Given the description of an element on the screen output the (x, y) to click on. 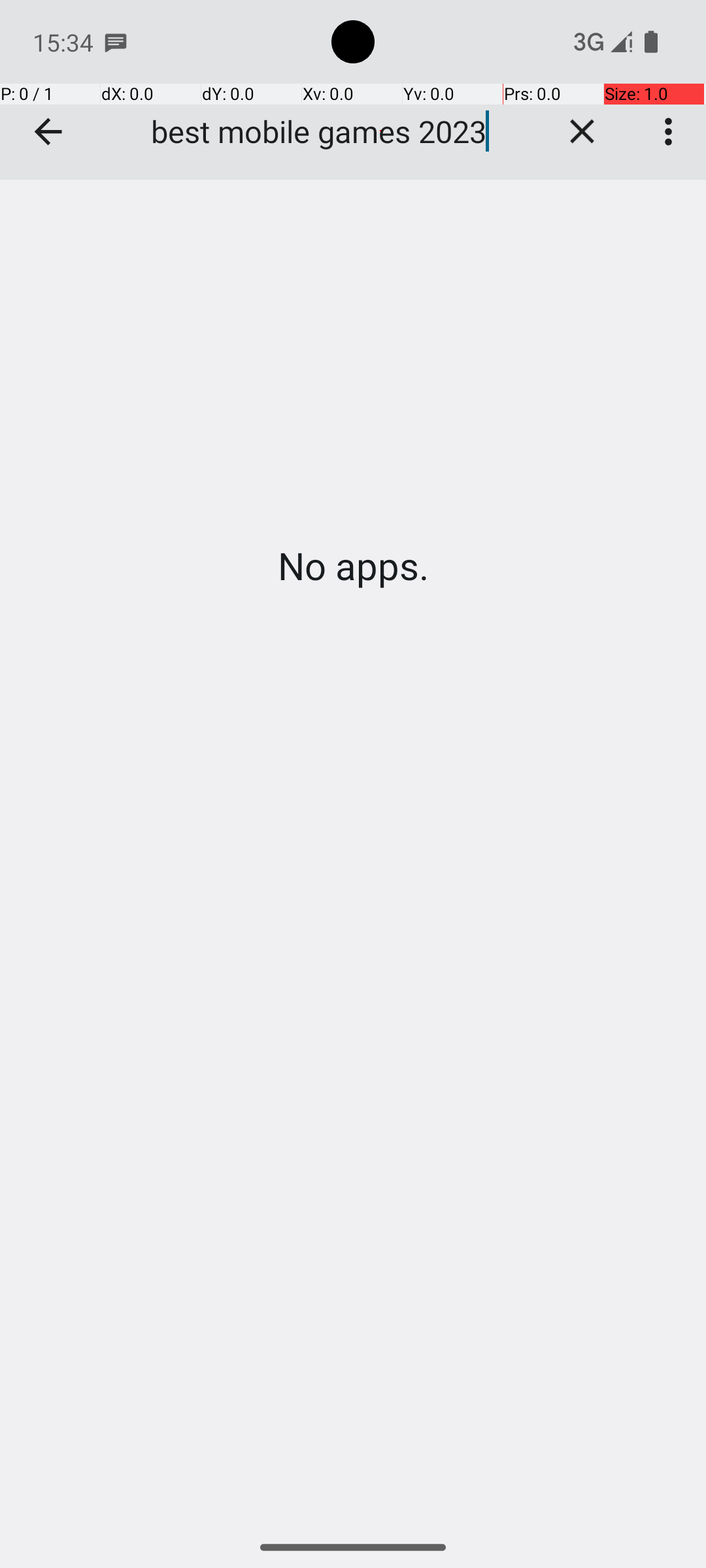
Games Element type: android.widget.FrameLayout (353, 89)
No apps. Element type: android.widget.TextView (353, 565)
best mobile games 2023 Element type: android.widget.AutoCompleteTextView (338, 130)
Clear query Element type: android.widget.ImageView (581, 131)
